Given the description of an element on the screen output the (x, y) to click on. 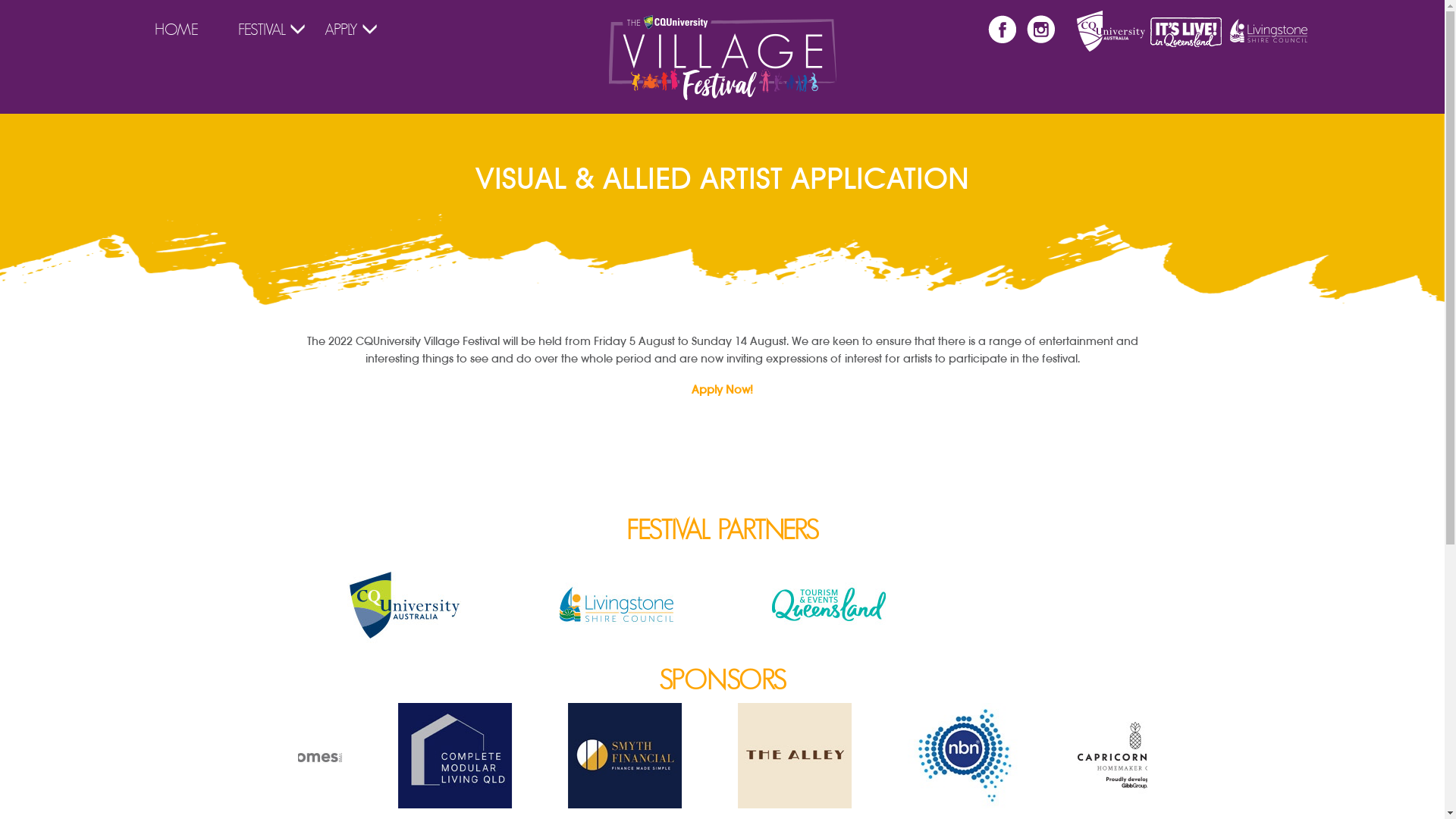
HOME Element type: text (176, 29)
Apply Now! Element type: text (722, 389)
APPLY Element type: text (340, 29)
FESTIVAL Element type: text (261, 29)
